Given the description of an element on the screen output the (x, y) to click on. 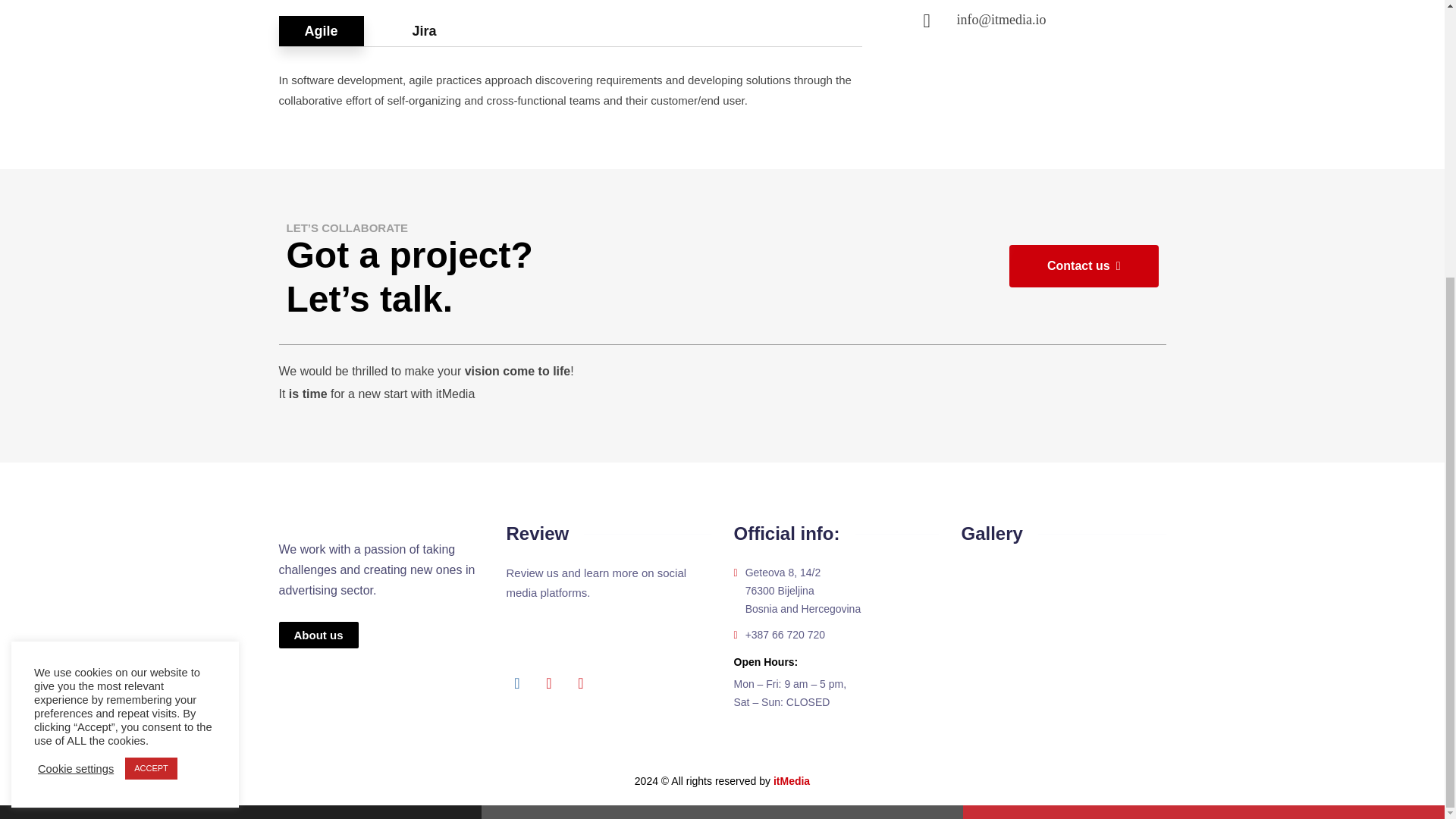
itMedia (791, 780)
ACCEPT (151, 356)
Cookie settings (75, 356)
About us (318, 634)
Contact us (1083, 265)
